Given the description of an element on the screen output the (x, y) to click on. 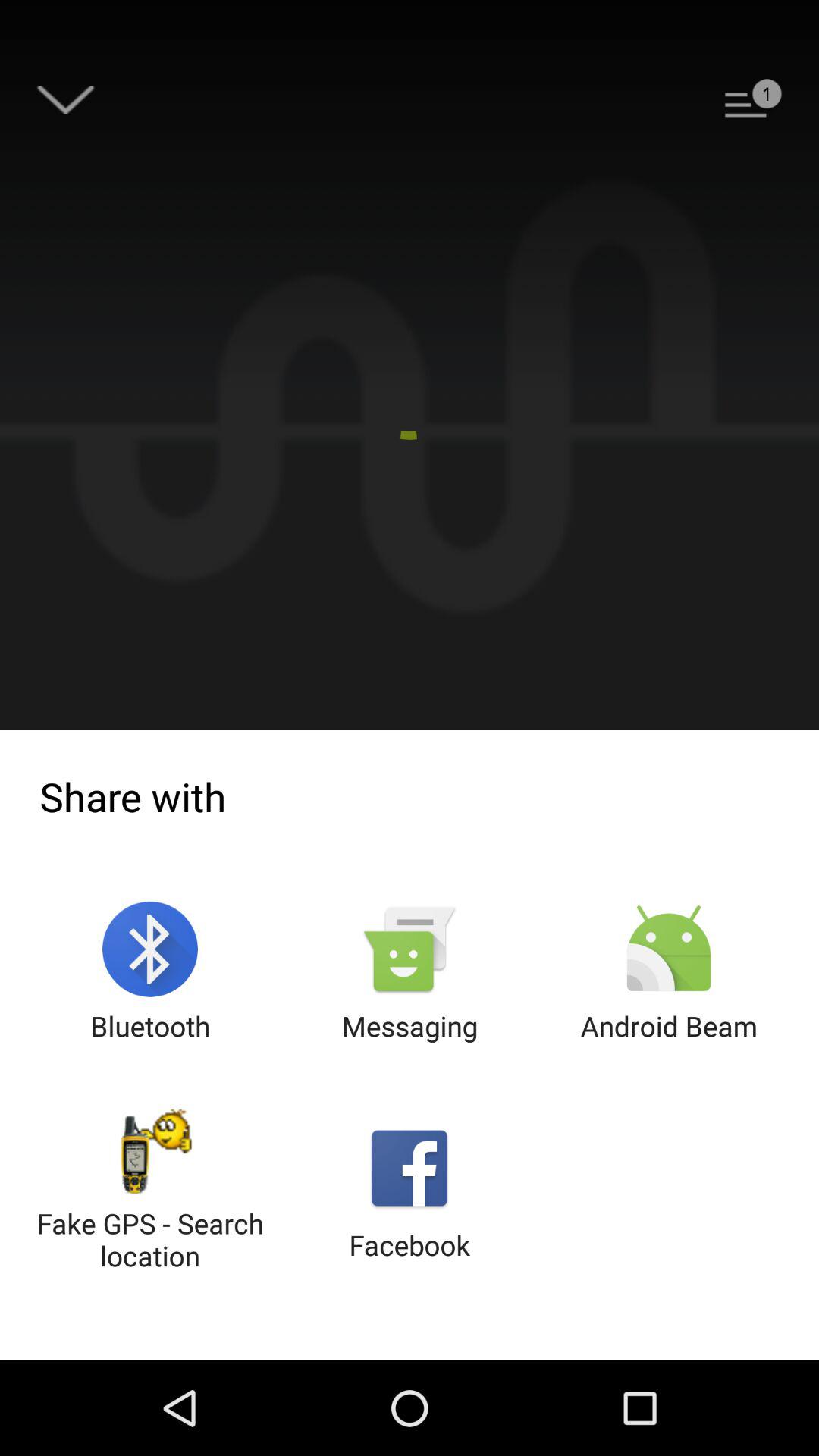
select facebook item (409, 1191)
